Given the description of an element on the screen output the (x, y) to click on. 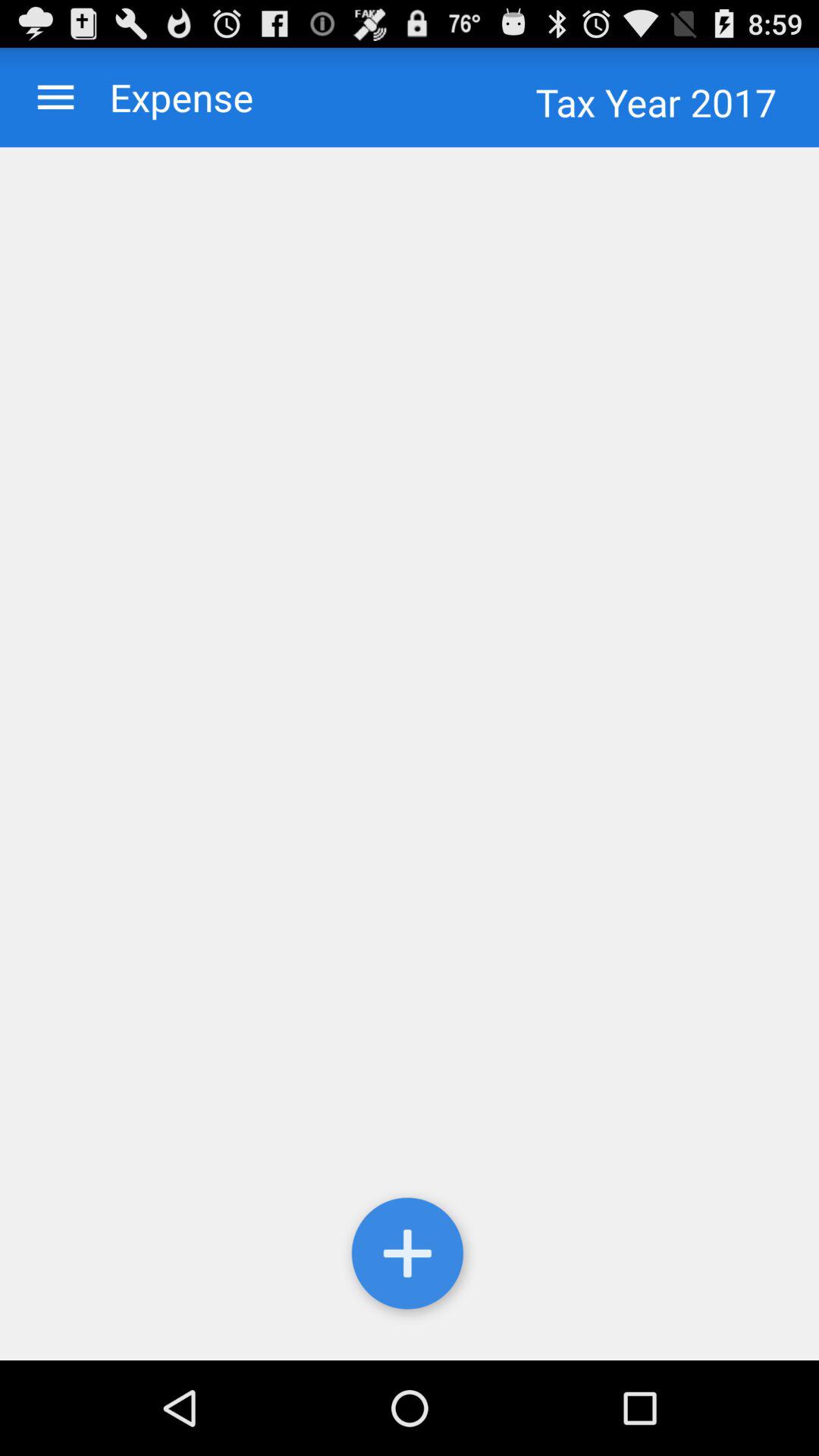
tap the app to the left of the expense (55, 97)
